Given the description of an element on the screen output the (x, y) to click on. 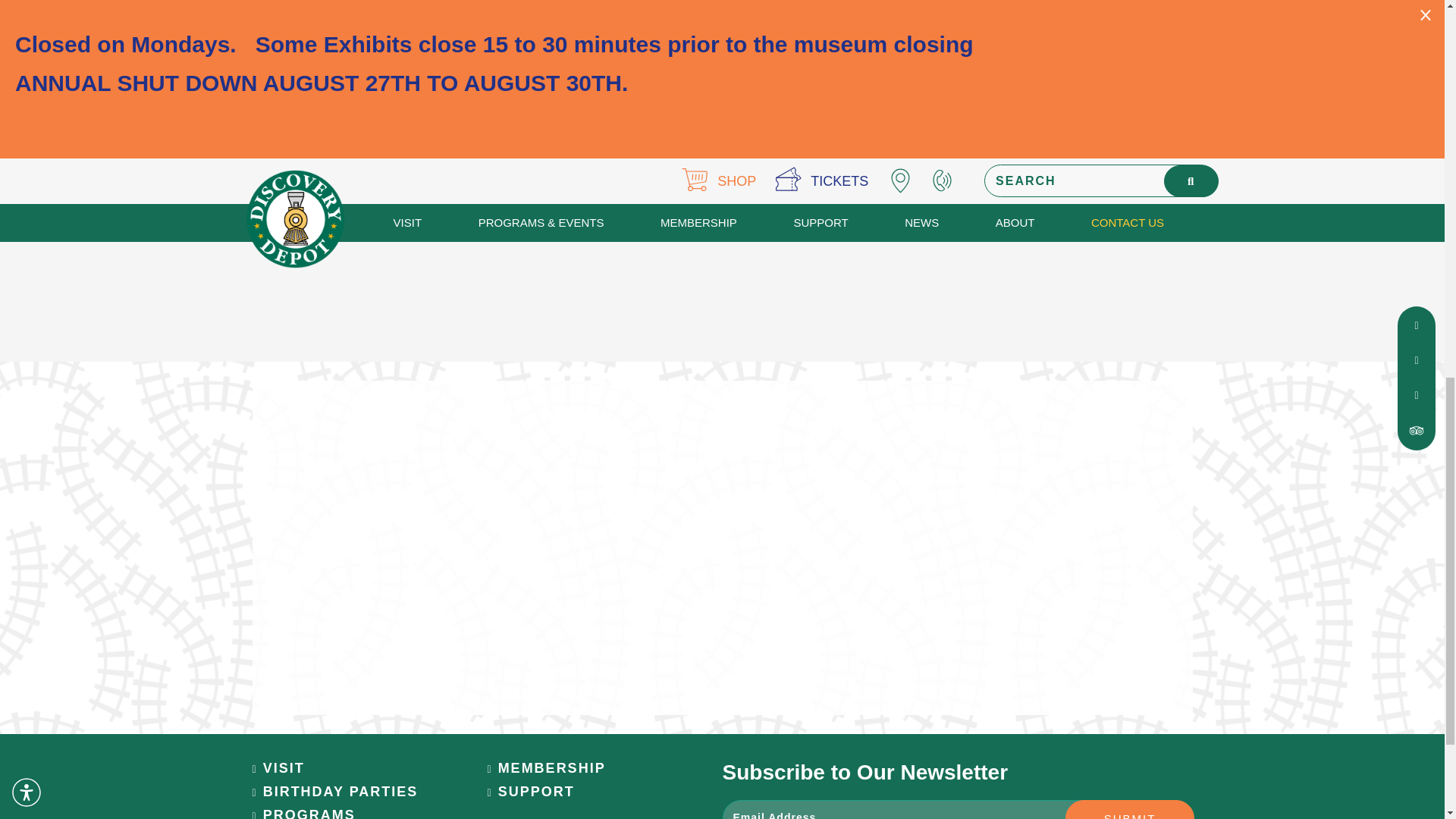
PROGRAMS (303, 813)
VISIT (277, 768)
BIRTHDAY PARTIES (334, 791)
